Given the description of an element on the screen output the (x, y) to click on. 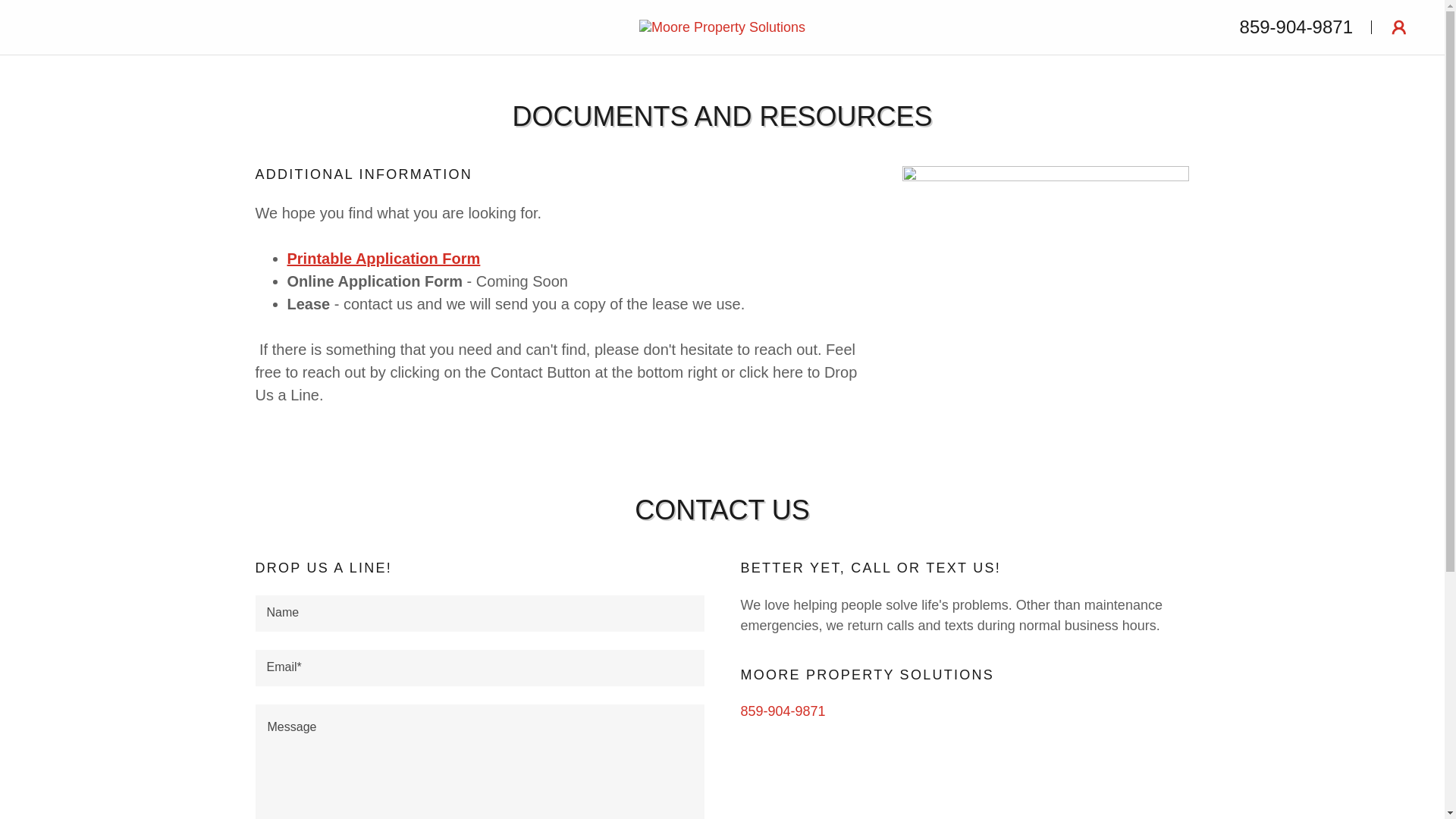
859-904-9871 (782, 711)
Moore Property Solutions (722, 26)
Printable Application Form (383, 258)
859-904-9871 (1296, 26)
